Given the description of an element on the screen output the (x, y) to click on. 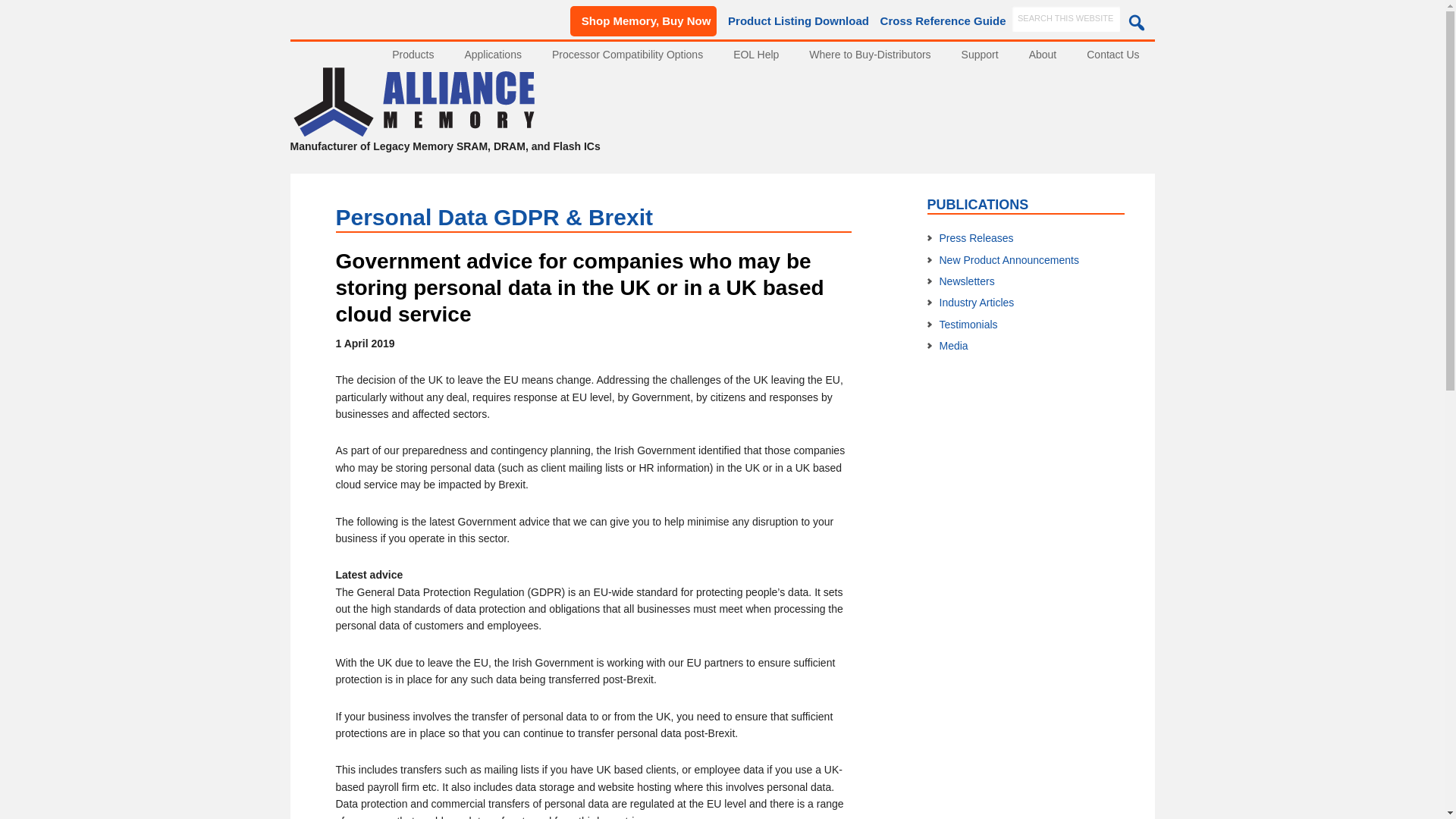
About (1042, 54)
Where to Buy-Distributors (868, 54)
Applications (492, 54)
Alliance Memory (413, 129)
Shop Memory, Buy Now (643, 20)
Products (412, 54)
Cross Reference Guide (939, 20)
Support (979, 54)
Product Listing Download (794, 21)
Processor Compatibility Options (627, 54)
